Given the description of an element on the screen output the (x, y) to click on. 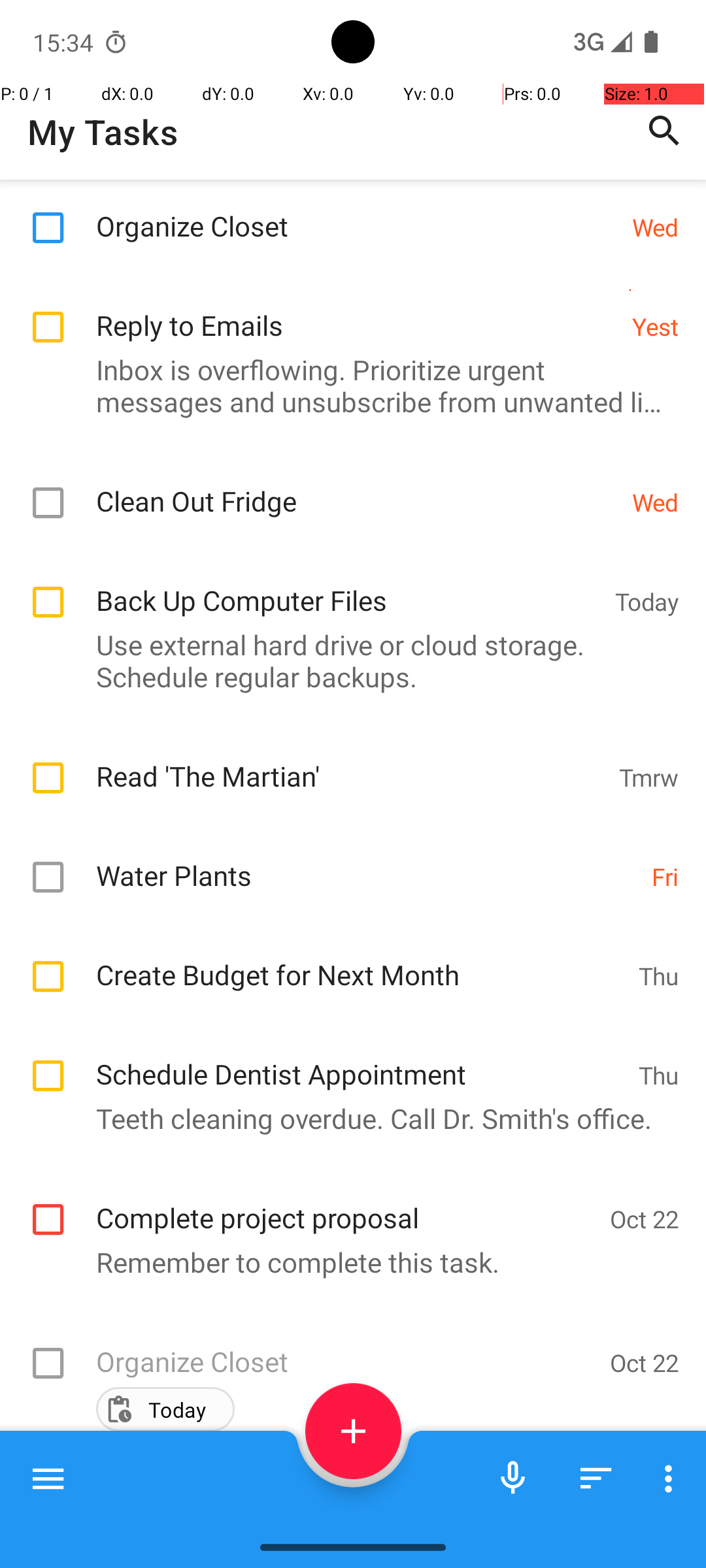
Complete project proposal Element type: android.widget.TextView (346, 1203)
Remember to complete this task. Element type: android.widget.TextView (346, 1261)
